Given the description of an element on the screen output the (x, y) to click on. 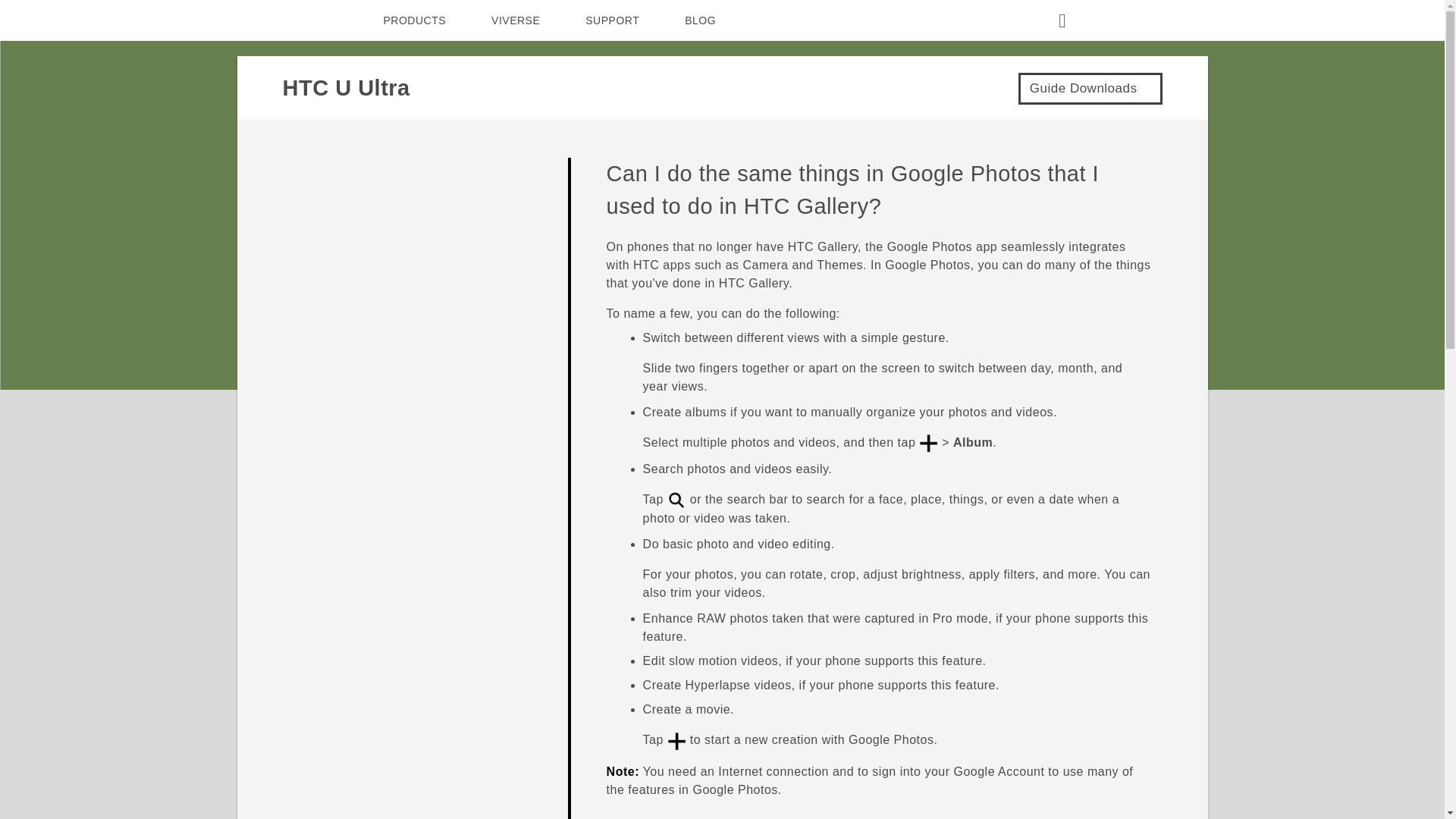
PRODUCTS (415, 20)
VIVERSE (516, 20)
SUPPORT (612, 20)
